Given the description of an element on the screen output the (x, y) to click on. 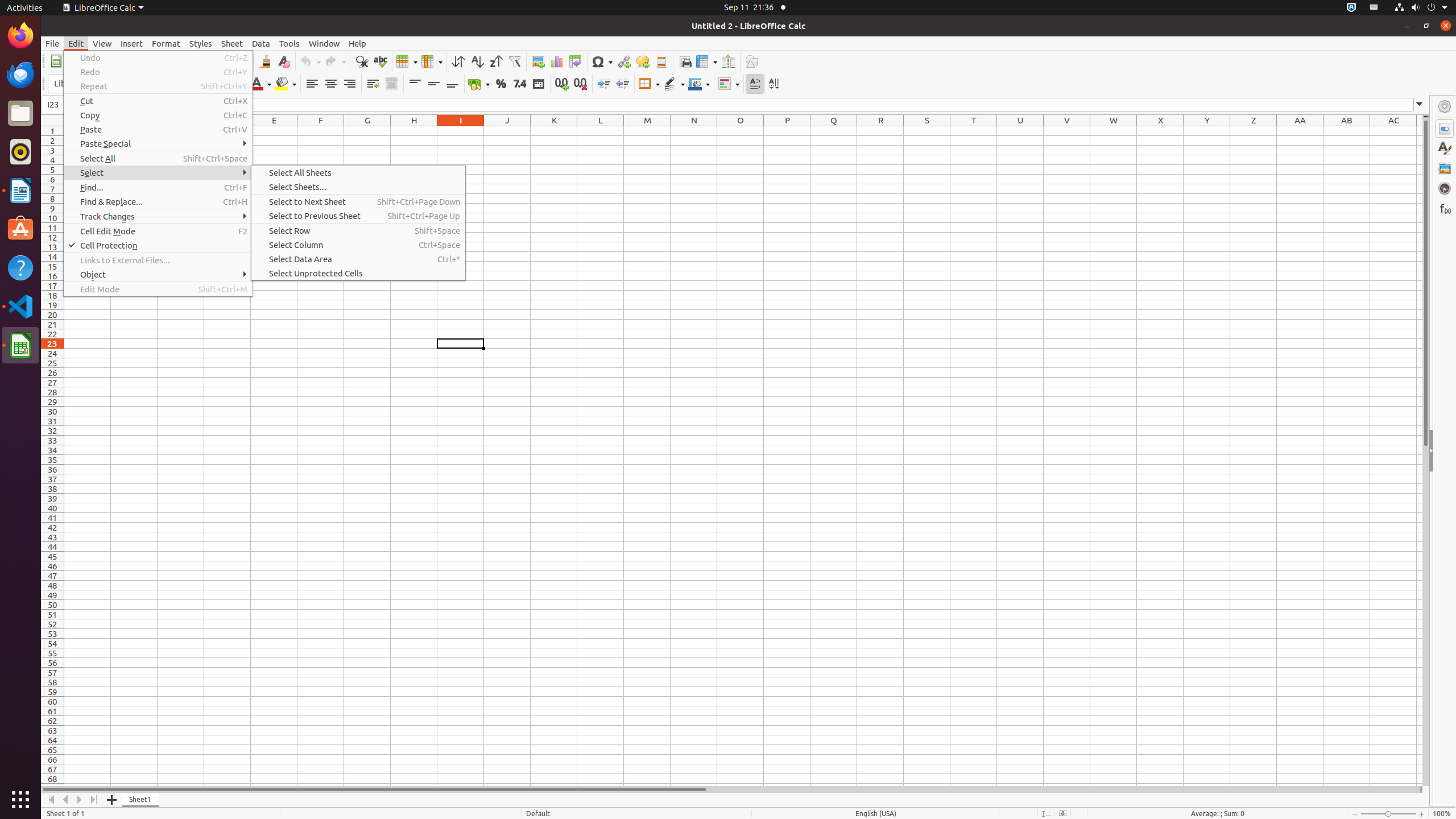
I1 Element type: table-cell (460, 130)
Align Center Element type: push-button (330, 83)
Select to Previous Sheet Element type: menu-item (358, 215)
Paste Special Element type: menu (157, 143)
